Given the description of an element on the screen output the (x, y) to click on. 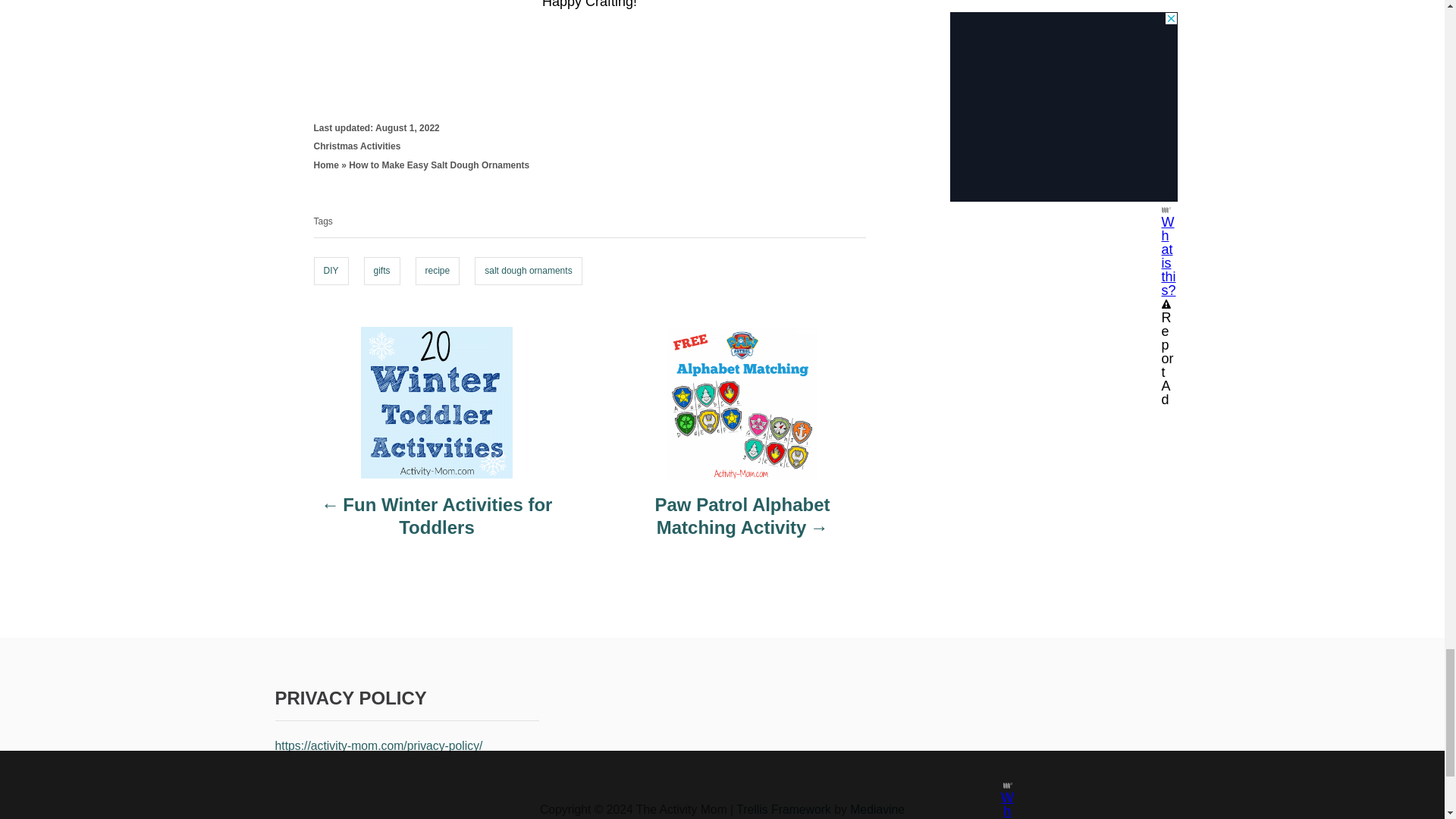
Trellis Framework (783, 809)
Fun Winter Activities for Toddlers (437, 523)
recipe (437, 271)
gifts (382, 271)
Mediavine (877, 809)
Home (326, 164)
Christmas Activities (357, 145)
DIY (331, 271)
Paw Patrol Alphabet Matching Activity (741, 523)
salt dough ornaments (527, 271)
